Given the description of an element on the screen output the (x, y) to click on. 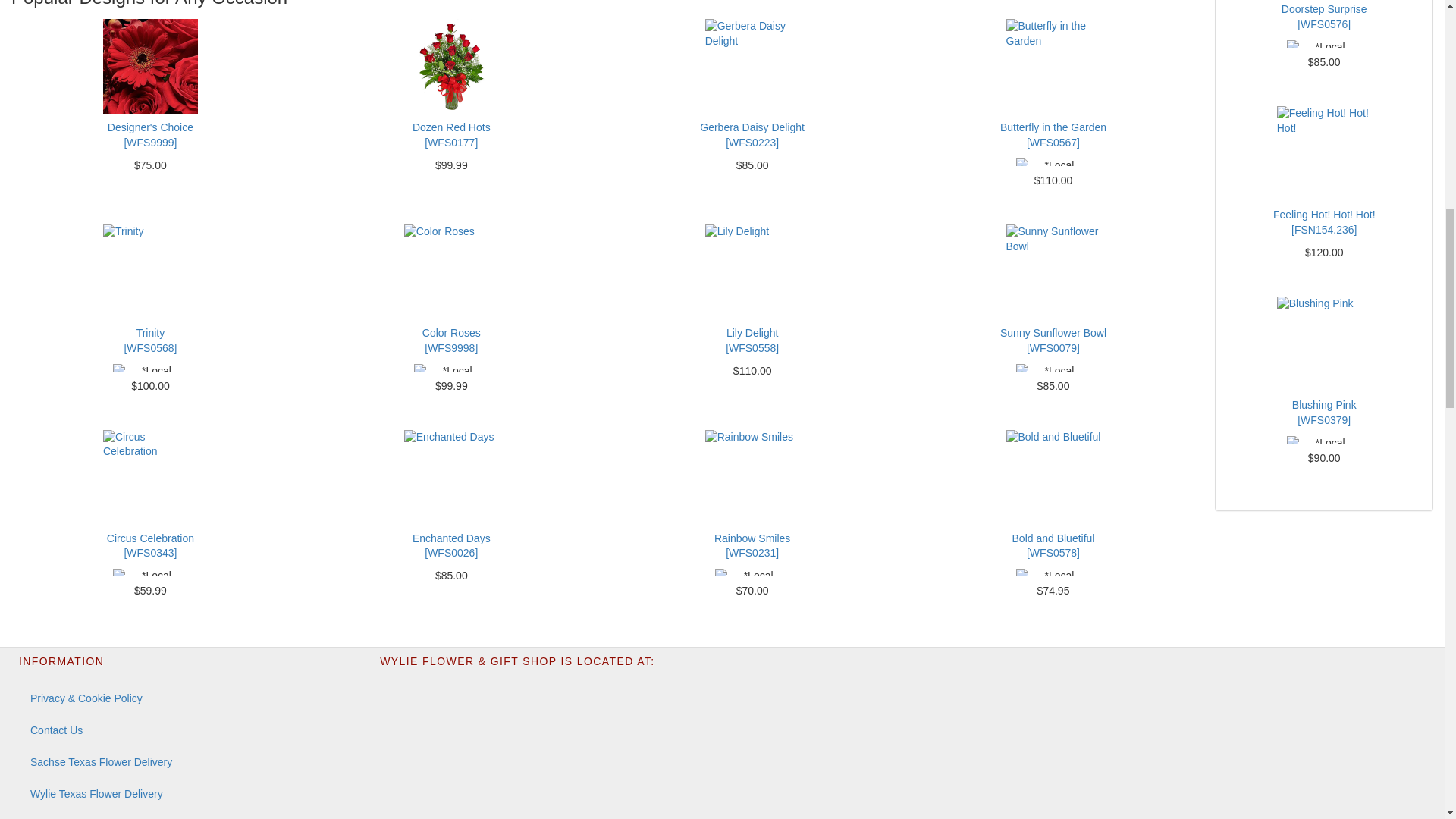
Circus Celebration (150, 476)
Lily Delight (751, 271)
Enchanted Days (451, 476)
Butterfly in the Garden (1053, 65)
Sunny Sunflower Bowl (1053, 271)
Designer's Choice (150, 65)
Trinity (150, 271)
Color Roses (451, 271)
Bold and Bluetiful (1053, 476)
Rainbow Smiles (751, 476)
Dozen Red Hots (451, 65)
Gerbera Daisy Delight (751, 65)
